Given the description of an element on the screen output the (x, y) to click on. 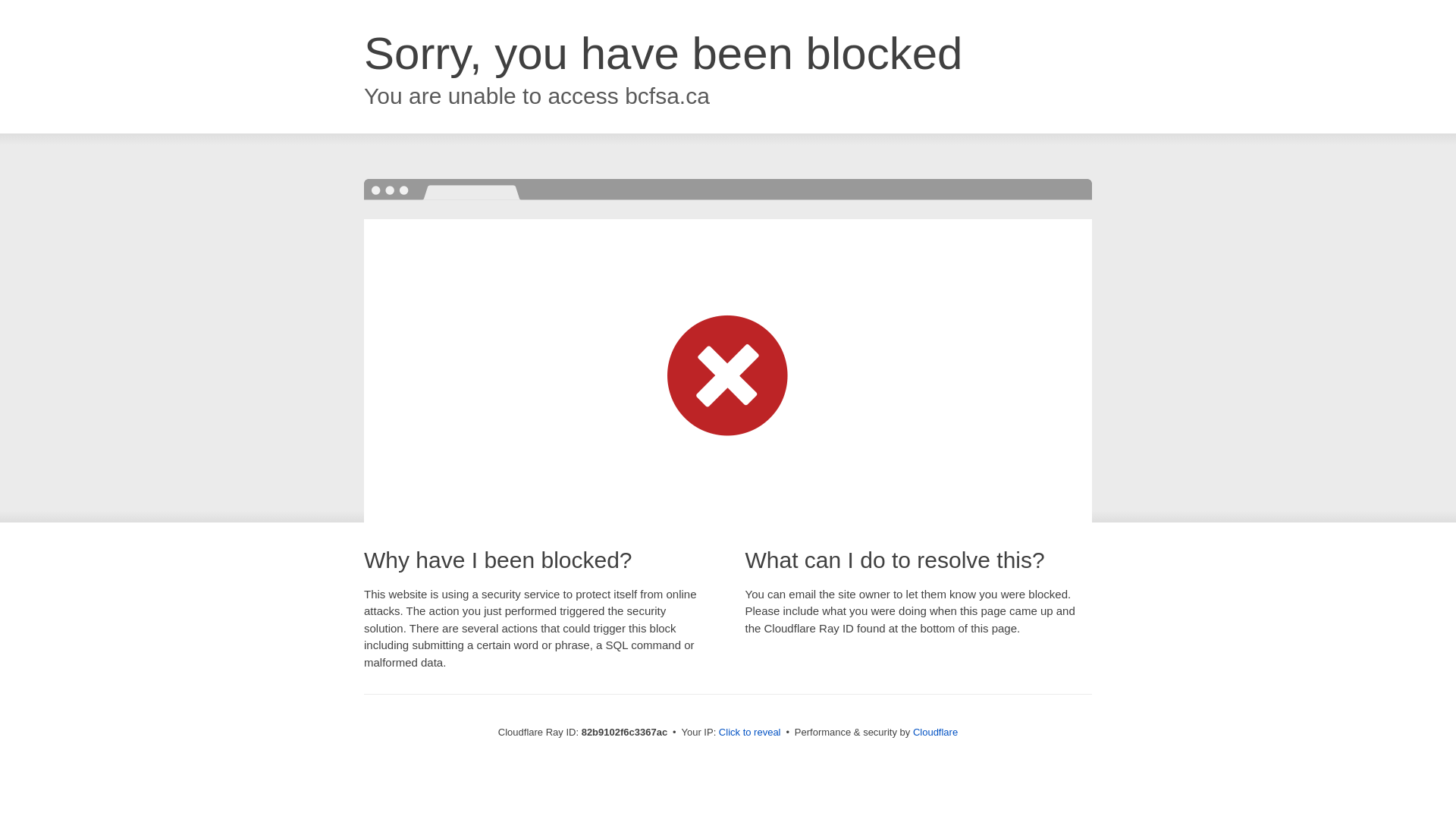
Cloudflare Element type: text (935, 731)
Click to reveal Element type: text (749, 732)
